Given the description of an element on the screen output the (x, y) to click on. 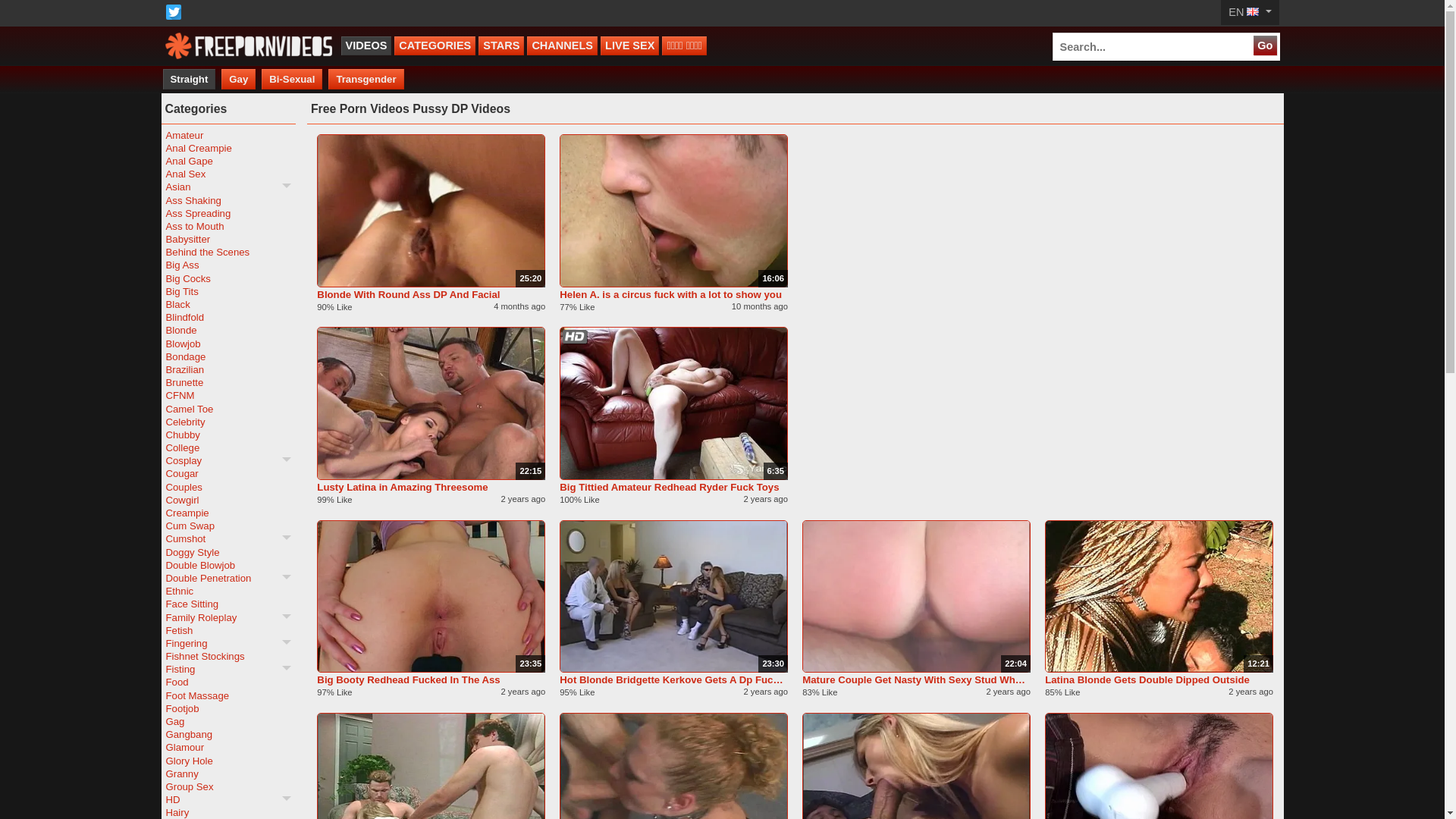
Chubby Element type: text (228, 434)
Camel Toe Element type: text (228, 407)
Double Blowjob Element type: text (228, 564)
Blindfold Element type: text (228, 316)
Ethnic Element type: text (228, 590)
HD Element type: text (228, 799)
Foot Massage Element type: text (228, 695)
Brazilian Element type: text (228, 369)
CHANNELS Element type: text (562, 45)
Anal Creampie Element type: text (228, 147)
Fetish Element type: text (228, 630)
Babysitter Element type: text (228, 238)
Asian Element type: text (228, 186)
Double Penetration Element type: text (228, 577)
Group Sex Element type: text (228, 786)
Ass Shaking Element type: text (228, 200)
Granny Element type: text (228, 773)
Cosplay Element type: text (228, 460)
Cougar Element type: text (228, 473)
STARS Element type: text (501, 45)
Food Element type: text (228, 681)
CATEGORIES Element type: text (434, 45)
Bi-Sexual Element type: text (291, 79)
Blowjob Element type: text (228, 343)
Lusty Latina in Amazing Threesome Element type: text (430, 487)
LIVE SEX Element type: text (629, 45)
Gag Element type: text (228, 721)
22:04 Element type: text (916, 596)
Creampie Element type: text (228, 512)
Fishnet Stockings Element type: text (228, 655)
Blonde Element type: text (228, 329)
Blonde With Round Ass DP And Facial Element type: text (430, 294)
Glamour Element type: text (228, 746)
College Element type: text (228, 447)
Latina Blonde Gets Double Dipped Outside Element type: text (1158, 679)
Black Element type: text (228, 304)
23:30 Element type: text (673, 596)
Doggy Style Element type: text (228, 552)
Anal Sex Element type: text (228, 173)
Cowgirl Element type: text (228, 499)
16:06 Element type: text (673, 210)
Gay Element type: text (238, 79)
Anal Gape Element type: text (228, 160)
Couples Element type: text (228, 486)
Big Tits Element type: text (228, 291)
Footjob Element type: text (228, 708)
25:20 Element type: text (430, 210)
Straight Element type: text (188, 79)
6:35 Element type: text (673, 403)
Fisting Element type: text (228, 668)
Ass Spreading Element type: text (228, 213)
Brunette Element type: text (228, 382)
Fingering Element type: text (228, 643)
Big Cocks Element type: text (228, 278)
Helen A. is a circus fuck with a lot to show you Element type: text (673, 294)
Glory Hole Element type: text (228, 760)
Big Ass Element type: text (228, 264)
Family Roleplay Element type: text (228, 617)
23:35 Element type: text (430, 596)
Go Element type: text (1264, 45)
CFNM Element type: text (228, 395)
Hot Blonde Bridgette Kerkove Gets A Dp Fucking In Foursome Element type: text (673, 679)
Face Sitting Element type: text (228, 603)
Celebrity Element type: text (228, 421)
Ass to Mouth Element type: text (228, 225)
Big Booty Redhead Fucked In The Ass Element type: text (430, 679)
EN Element type: text (1249, 12)
Bondage Element type: text (228, 356)
Amateur Element type: text (228, 134)
Behind the Scenes Element type: text (228, 251)
22:15 Element type: text (430, 403)
VIDEOS Element type: text (366, 45)
12:21 Element type: text (1158, 596)
Transgender Element type: text (365, 79)
Gangbang Element type: text (228, 734)
Cumshot Element type: text (228, 538)
Mature Couple Get Nasty With Sexy Stud Who Fucks Hard Element type: text (916, 679)
Big Tittied Amateur Redhead Ryder Fuck Toys Element type: text (673, 487)
Cum Swap Element type: text (228, 525)
